Given the description of an element on the screen output the (x, y) to click on. 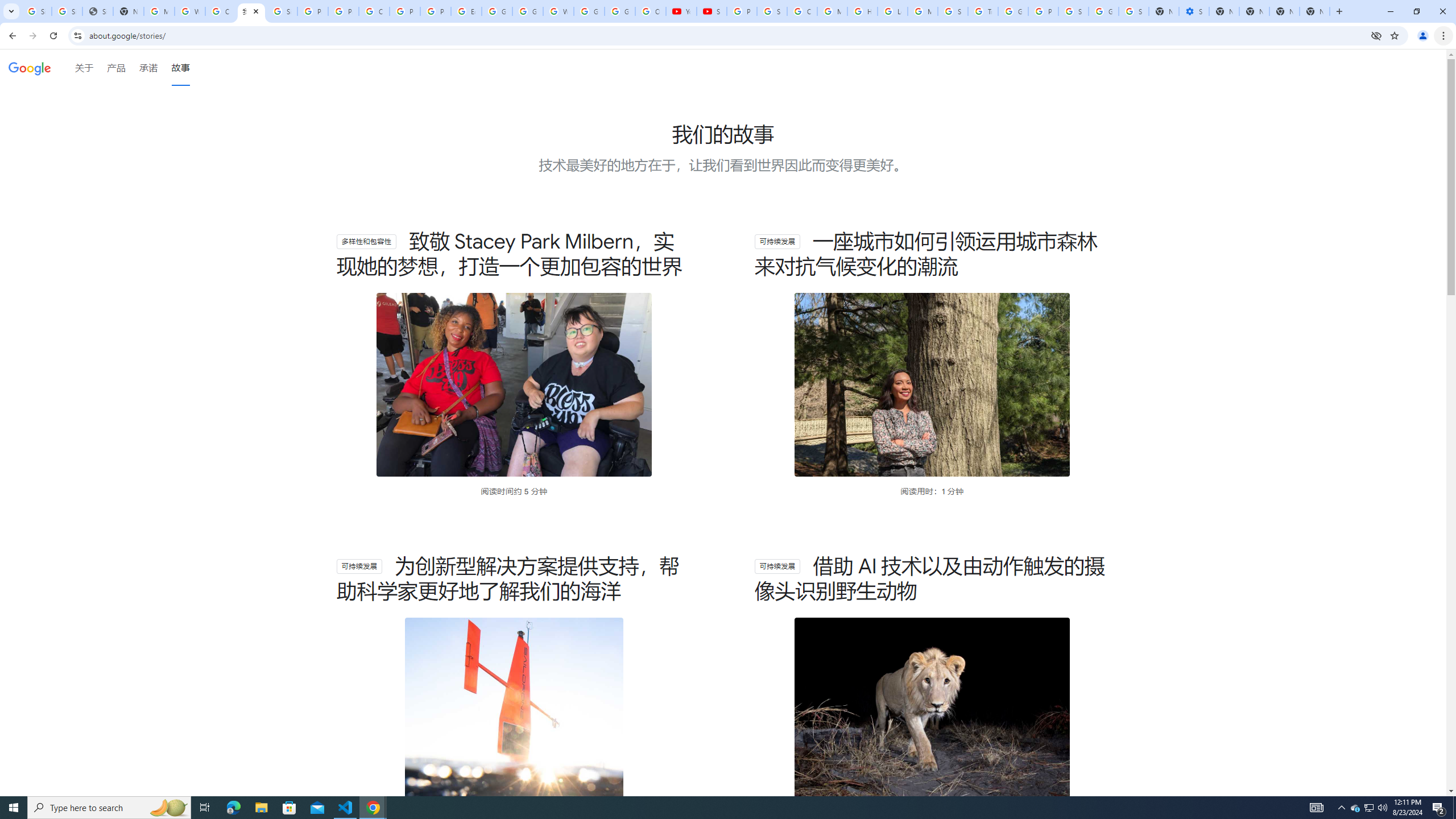
Search our Doodle Library Collection - Google Doodles (952, 11)
Welcome to My Activity (558, 11)
Settings - Performance (1193, 11)
Sign in - Google Accounts (282, 11)
Sign in - Google Accounts (66, 11)
